Given the description of an element on the screen output the (x, y) to click on. 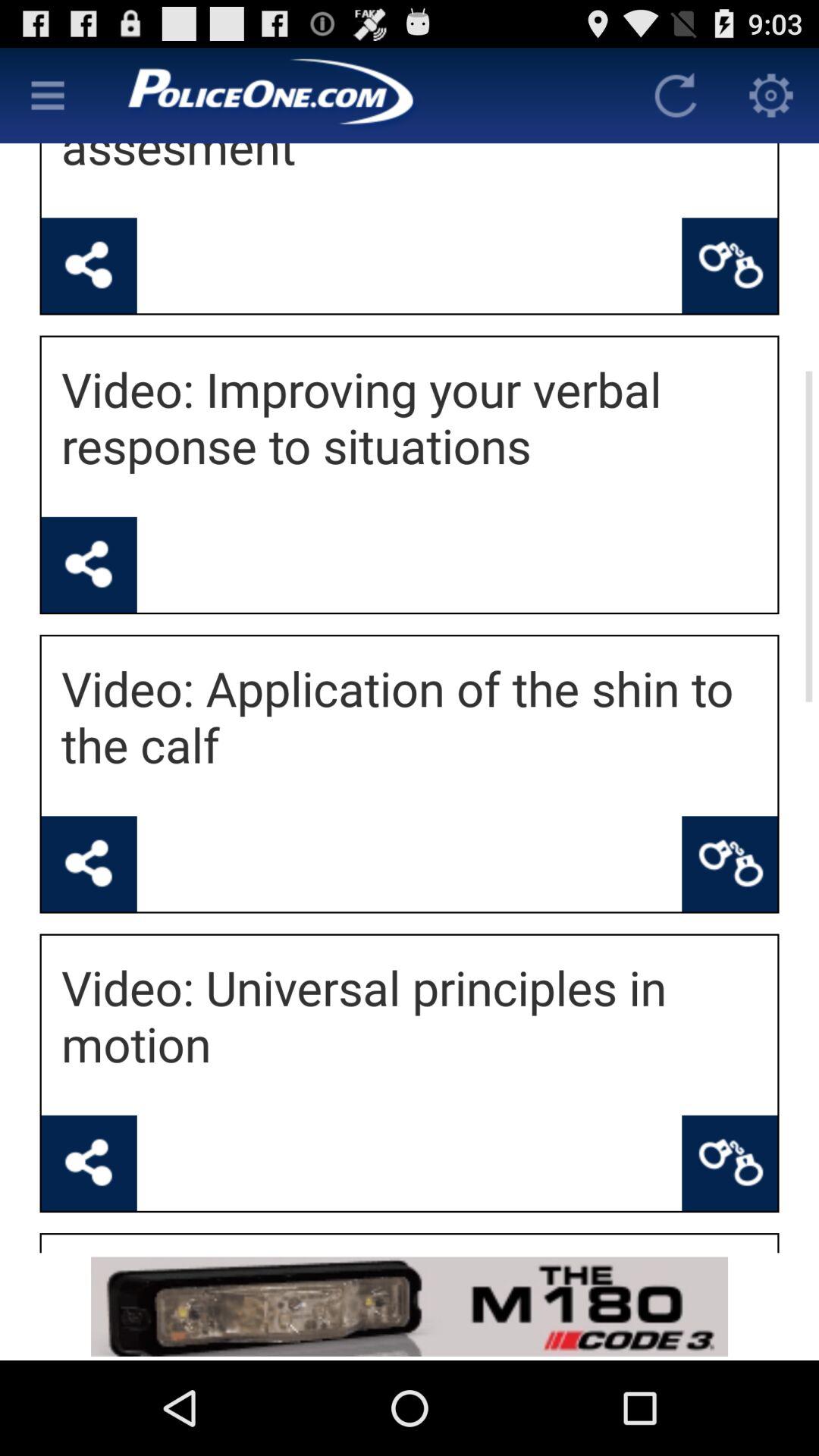
setting (771, 95)
